Given the description of an element on the screen output the (x, y) to click on. 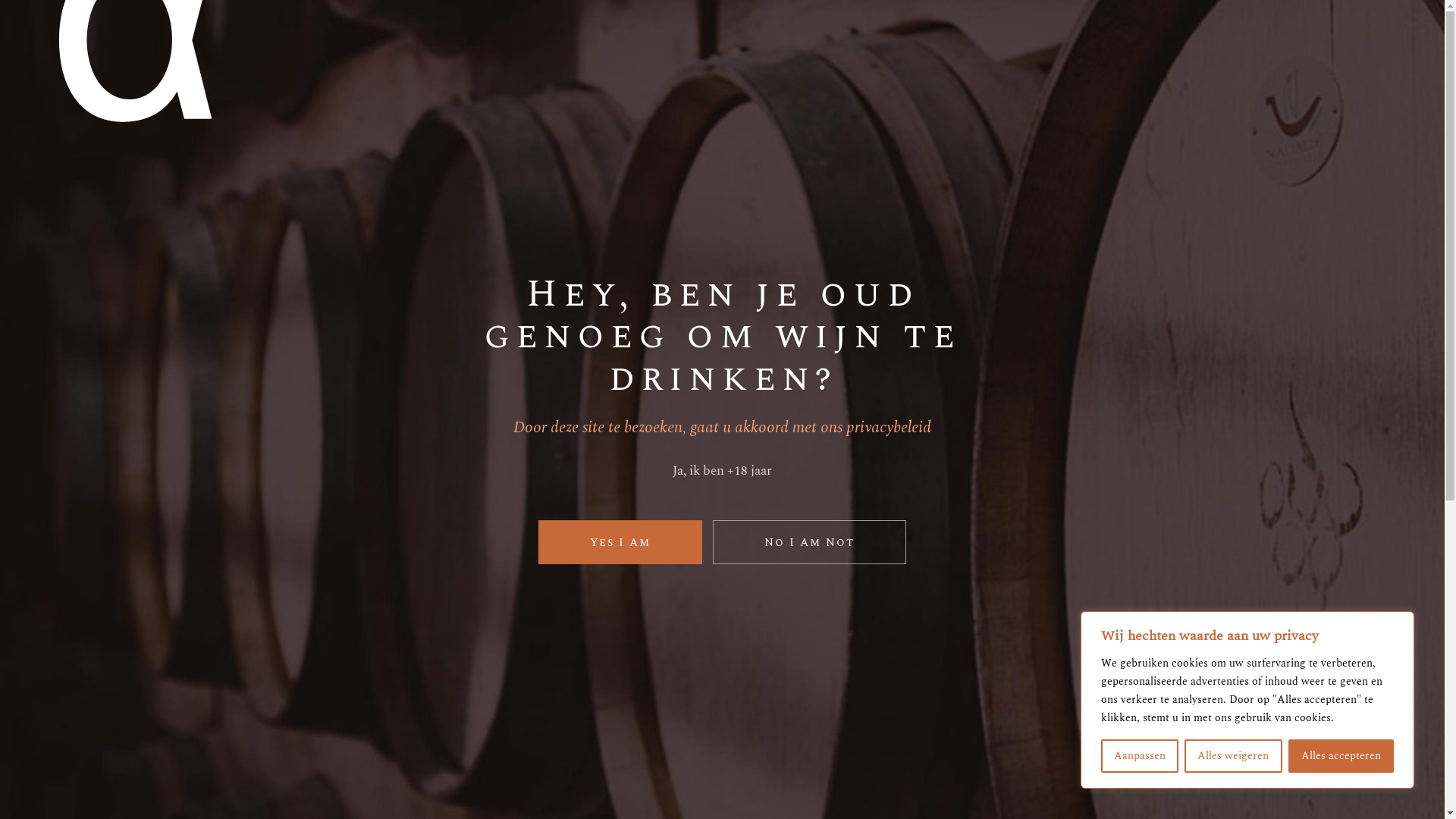
Alles accepteren Element type: text (1340, 755)
No I Am Not Element type: text (808, 542)
Vorige Evenementen Element type: text (341, 670)
Over Ons Element type: text (403, 45)
Wijndomeinen Element type: text (518, 45)
Aankomende Element type: text (456, 529)
Abonneer op kalender Element type: text (1081, 721)
Lijst Element type: text (1087, 465)
Corporate Element type: text (640, 45)
Maand Element type: text (1132, 465)
Volgende Evenementen Element type: text (1095, 670)
Home Element type: text (1162, 141)
Contact Element type: text (1048, 45)
Evenementen Element type: text (308, 409)
0 Element type: text (1349, 45)
Yes I Am Element type: text (620, 542)
Alles weigeren Element type: text (1232, 755)
Aanpassen Element type: text (1139, 755)
Events Element type: text (959, 45)
Vorige Evenementen Element type: hover (280, 529)
Volgende Evenementen Element type: hover (299, 529)
Shop Element type: text (884, 45)
Vandaag Element type: text (345, 529)
Tastings Element type: text (803, 45)
Zoek Naar Evenementen Element type: text (969, 465)
